Given the description of an element on the screen output the (x, y) to click on. 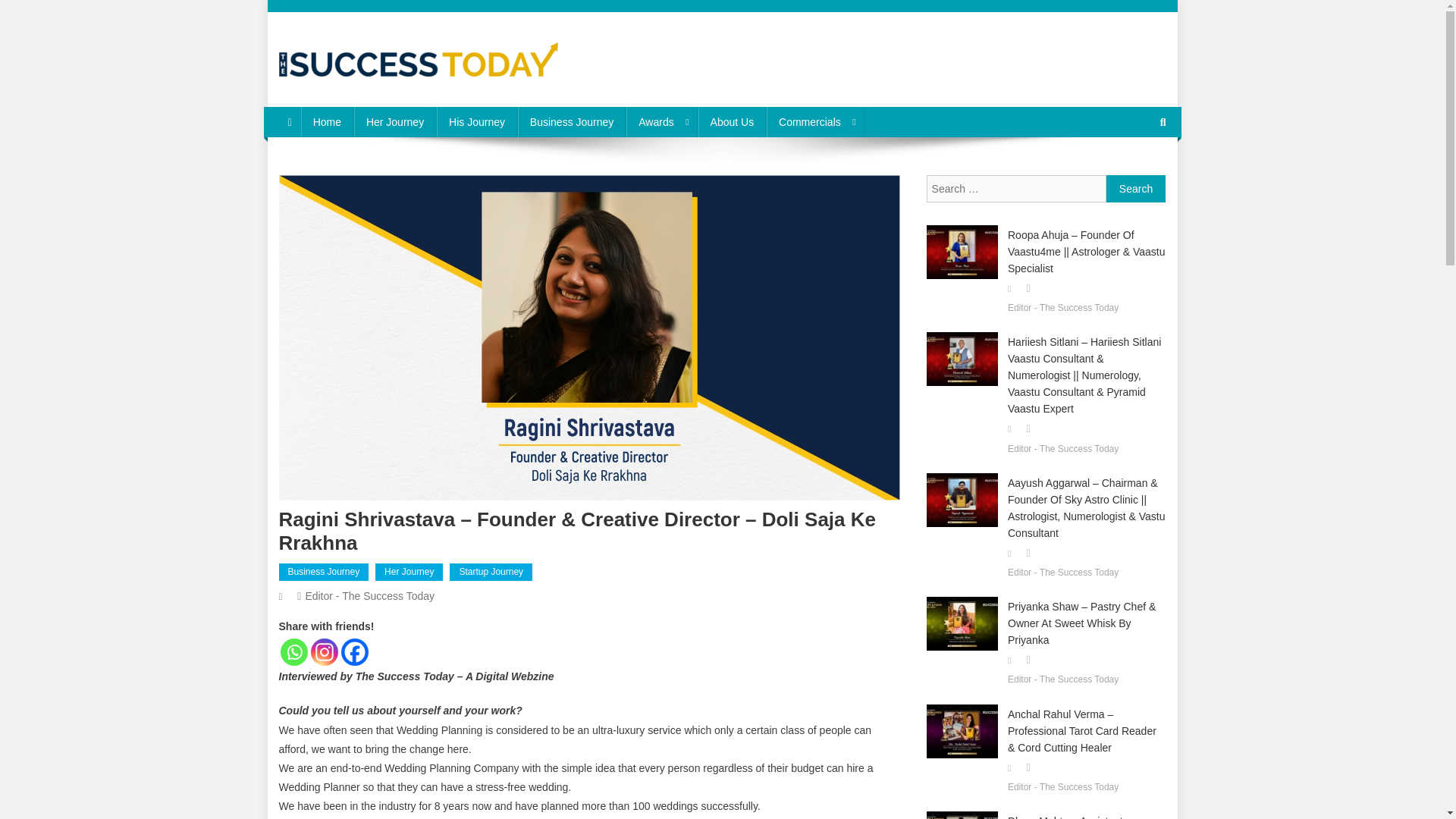
Editor - The Success Today (368, 595)
Home (327, 122)
His Journey (476, 122)
Commercials (815, 122)
Search (1133, 172)
Her Journey (394, 122)
Awards (661, 122)
Business Journey (572, 122)
Search (1136, 188)
Instagram (324, 651)
